Given the description of an element on the screen output the (x, y) to click on. 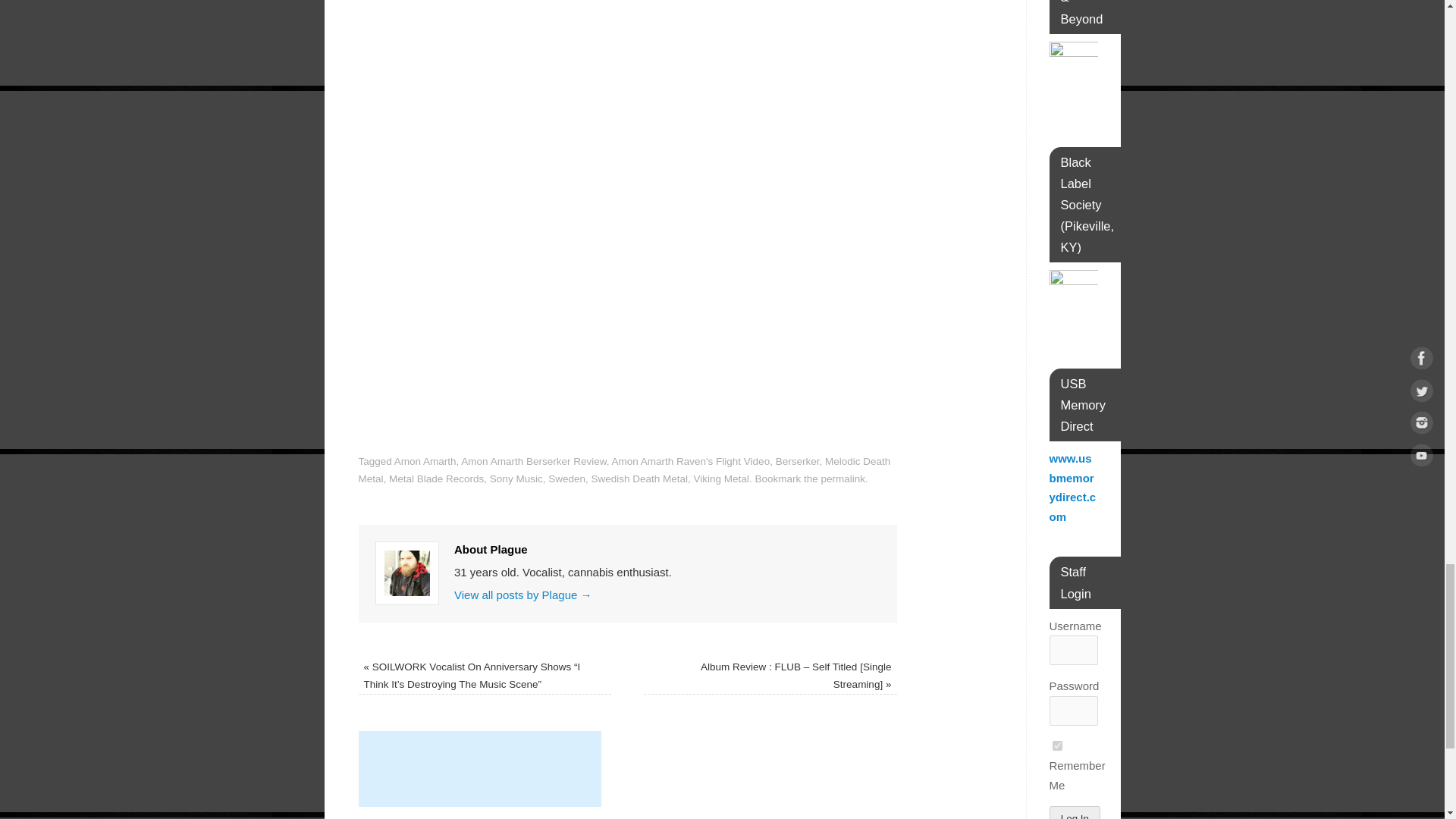
Amon Amarth (425, 460)
Sweden (566, 478)
Melodic Death Metal (623, 469)
Viking Metal (721, 478)
permalink (842, 478)
forever (1057, 746)
YouTube player (627, 44)
Berserker (797, 460)
Sony Music (516, 478)
